Given the description of an element on the screen output the (x, y) to click on. 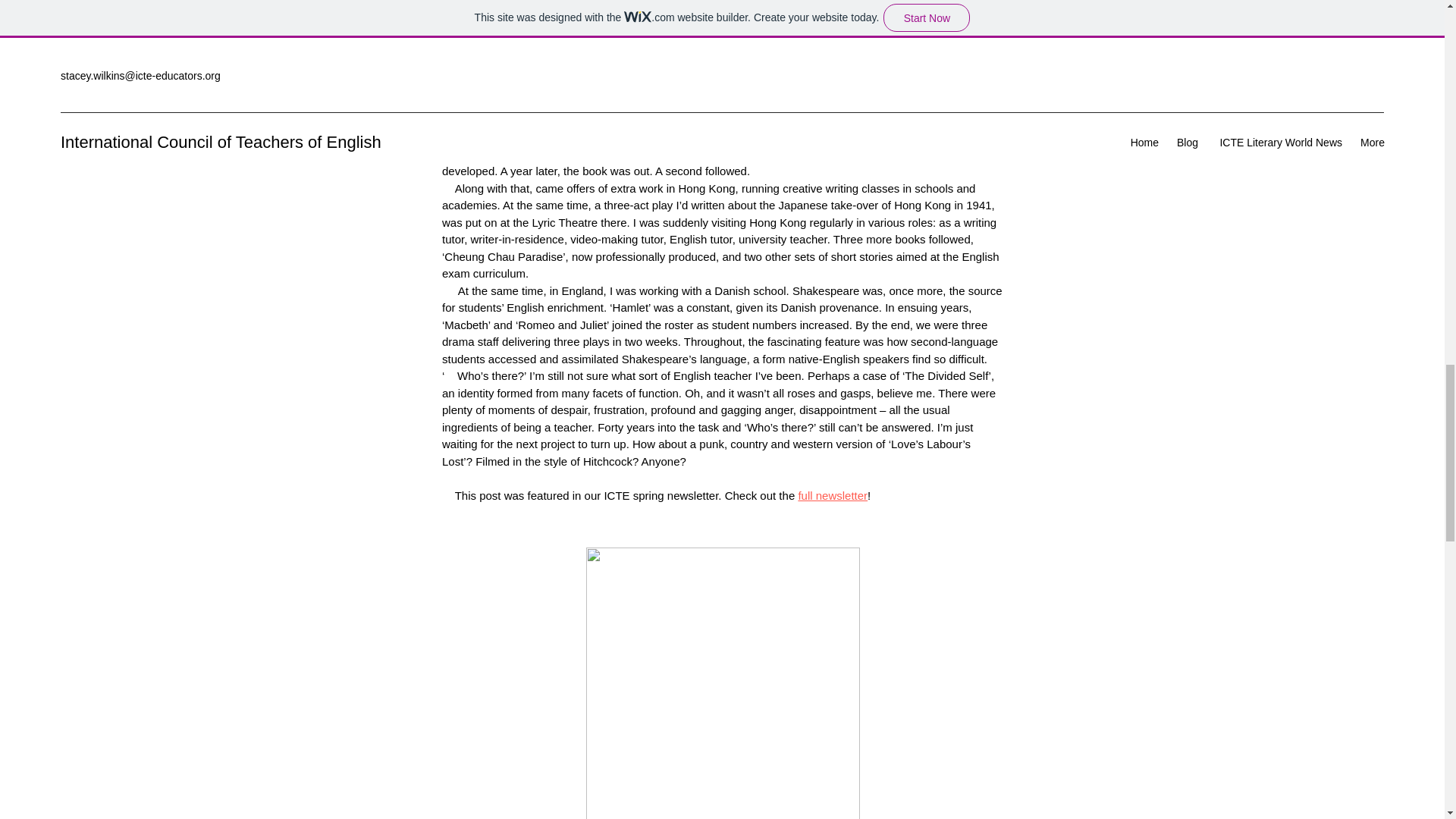
full newsletter (832, 495)
